Given the description of an element on the screen output the (x, y) to click on. 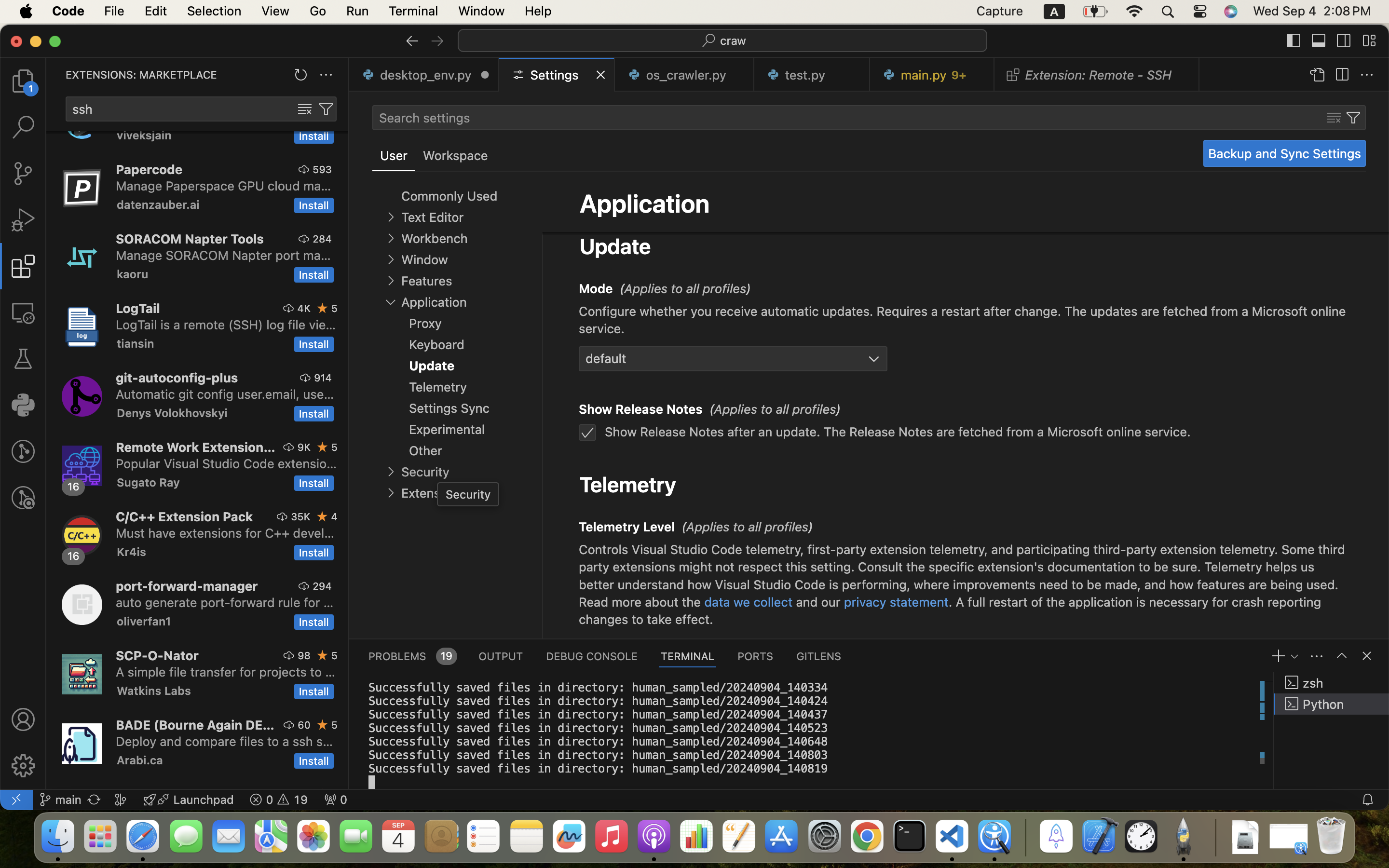
294 Element type: AXStaticText (321, 585)
 Element type: AXButton (1369, 40)
4K Element type: AXStaticText (303, 307)
 Element type: AXButton (412, 40)
 Element type: AXButton (304, 108)
